Given the description of an element on the screen output the (x, y) to click on. 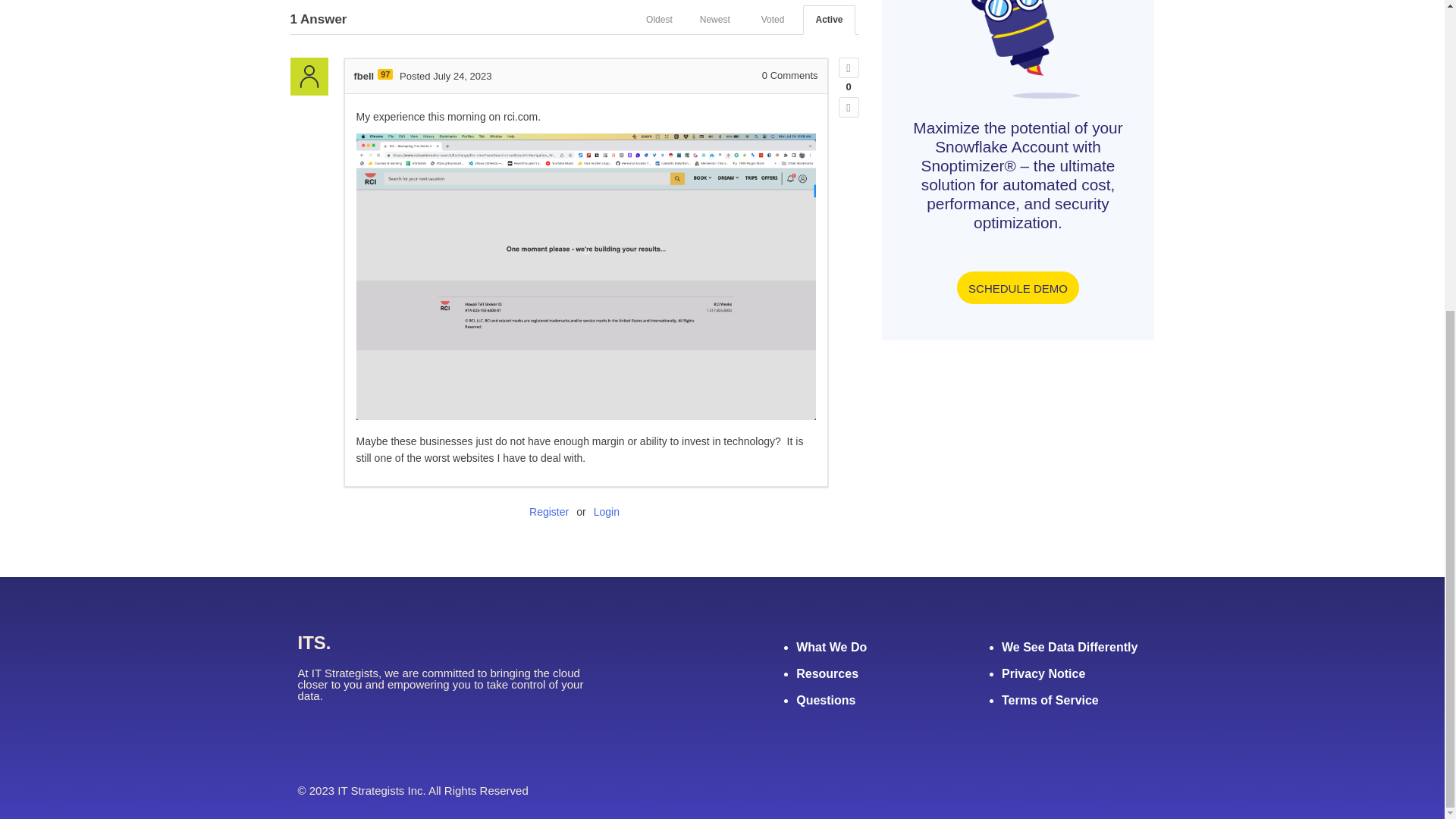
Questions (826, 699)
Login (607, 511)
Resources (827, 673)
What We Do (831, 646)
97 (385, 73)
Down vote this answer (848, 107)
Oldest (658, 19)
Newest (714, 19)
Posted July 24, 2023 (445, 75)
Register (549, 511)
Reputation (385, 73)
SCHEDULE DEMO (1017, 287)
fbell (363, 75)
Up vote this answer (848, 67)
Active (828, 19)
